Given the description of an element on the screen output the (x, y) to click on. 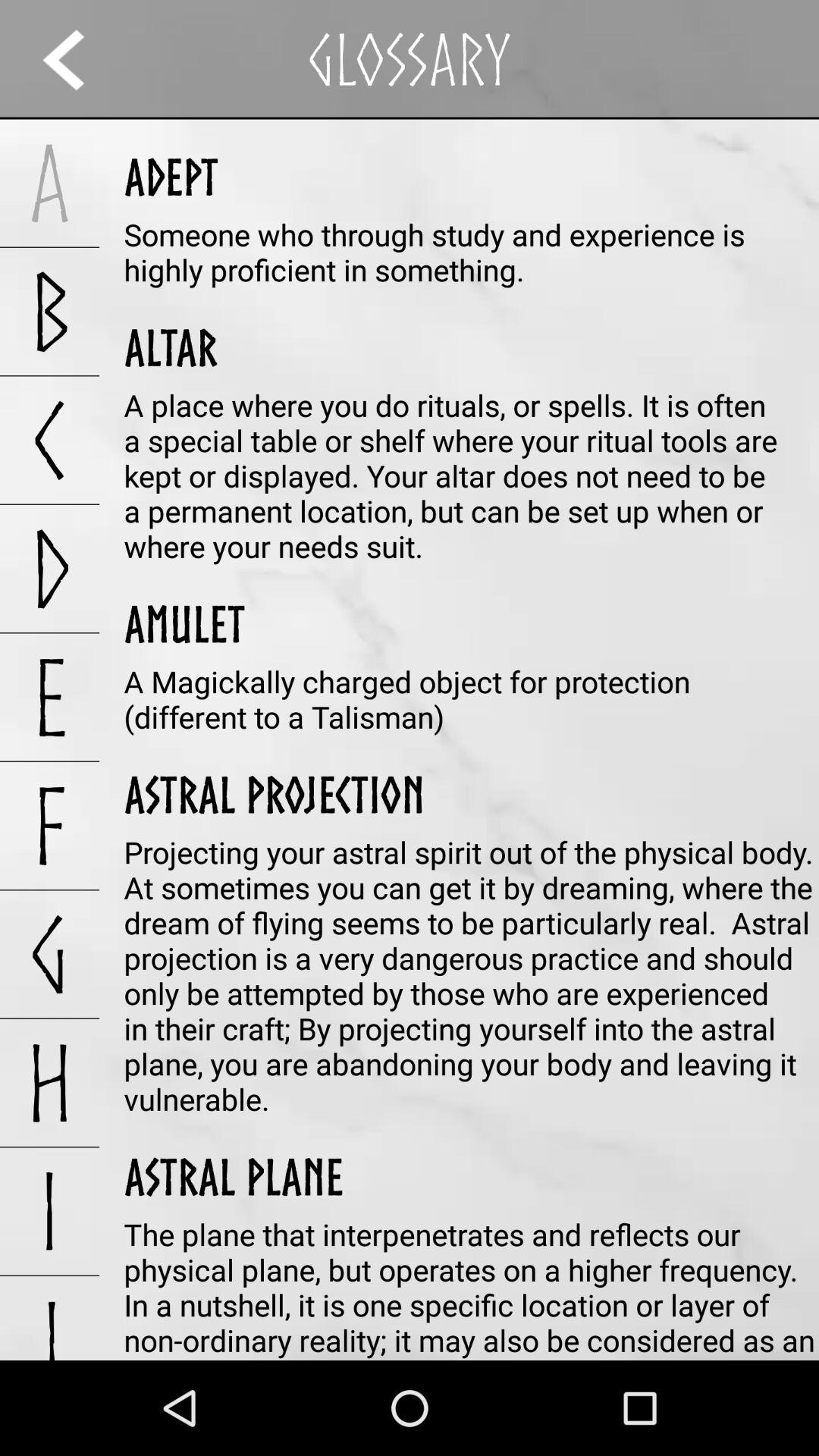
turn on the plane that (471, 1287)
